Given the description of an element on the screen output the (x, y) to click on. 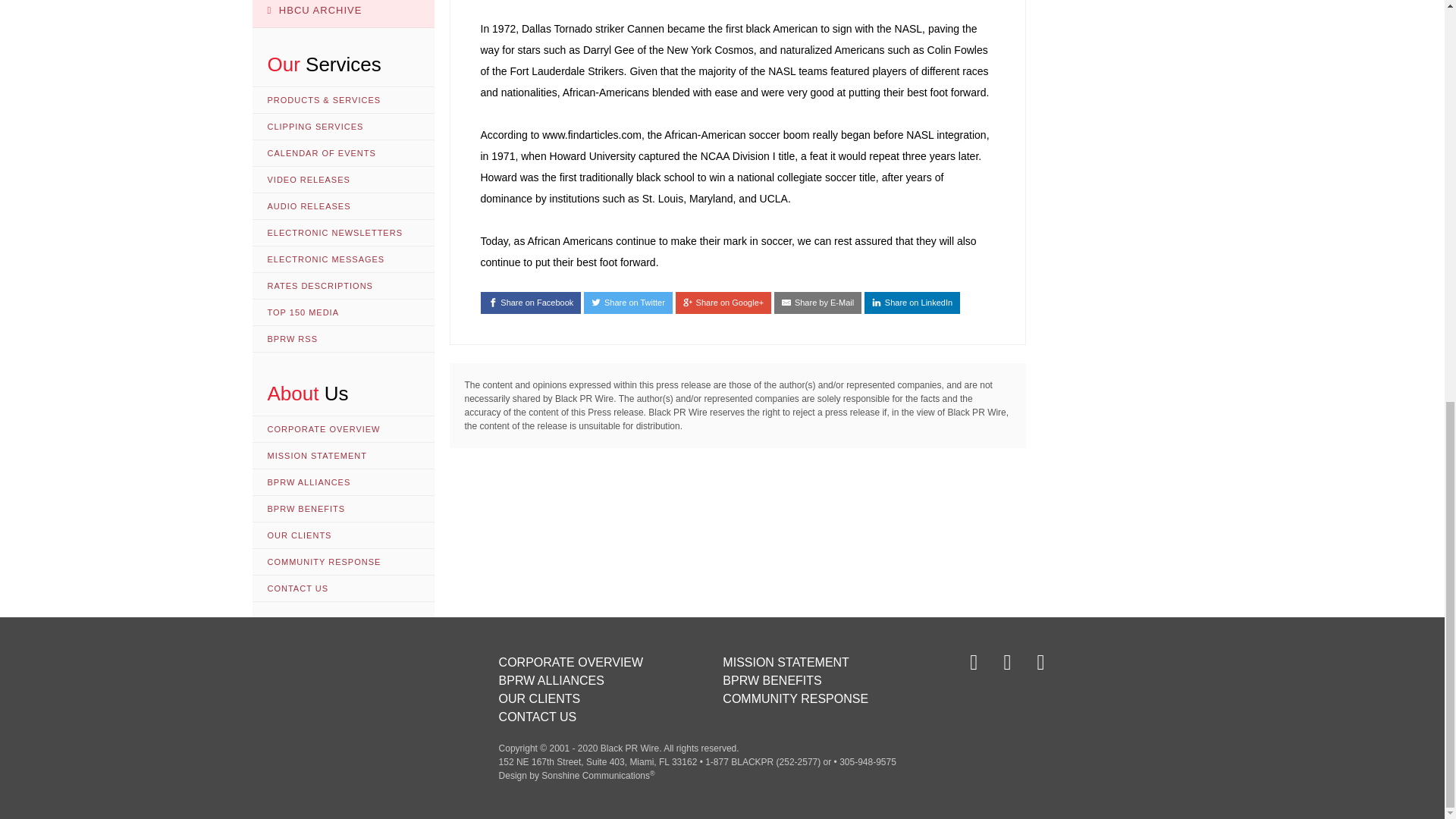
CALENDAR OF EVENTS (342, 153)
AUDIO RELEASES (342, 206)
HBCU ARCHIVE (342, 13)
CLIPPING SERVICES (342, 126)
VIDEO RELEASES (342, 180)
